Given the description of an element on the screen output the (x, y) to click on. 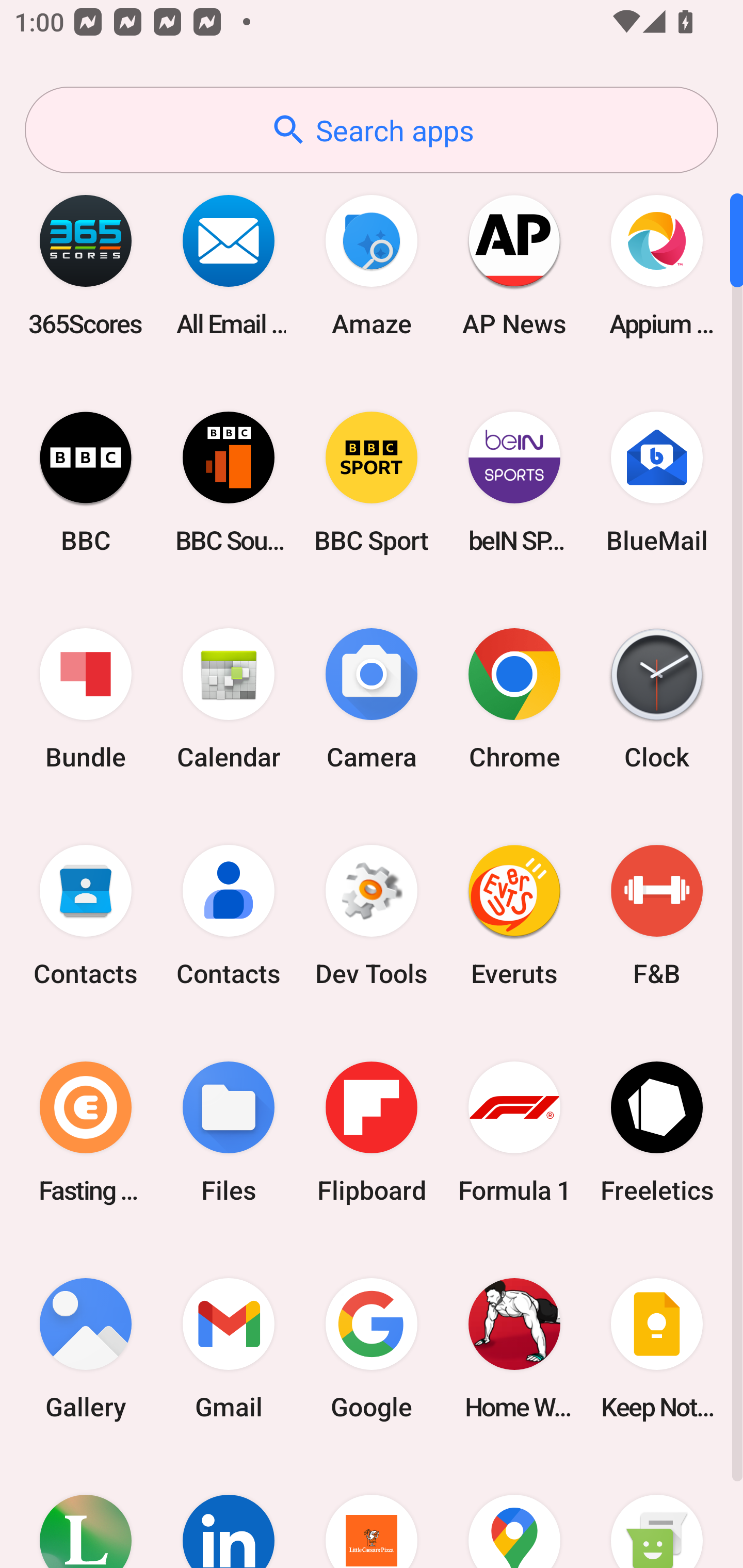
  Search apps (371, 130)
365Scores (85, 264)
All Email Connect (228, 264)
Amaze (371, 264)
AP News (514, 264)
Appium Settings (656, 264)
BBC (85, 482)
BBC Sounds (228, 482)
BBC Sport (371, 482)
beIN SPORTS (514, 482)
BlueMail (656, 482)
Bundle (85, 699)
Calendar (228, 699)
Camera (371, 699)
Chrome (514, 699)
Clock (656, 699)
Contacts (85, 915)
Contacts (228, 915)
Dev Tools (371, 915)
Everuts (514, 915)
F&B (656, 915)
Fasting Coach (85, 1131)
Files (228, 1131)
Flipboard (371, 1131)
Formula 1 (514, 1131)
Freeletics (656, 1131)
Gallery (85, 1348)
Gmail (228, 1348)
Google (371, 1348)
Home Workout (514, 1348)
Keep Notes (656, 1348)
Lifesum (85, 1512)
LinkedIn (228, 1512)
Little Caesars Pizza (371, 1512)
Maps (514, 1512)
Messaging (656, 1512)
